Given the description of an element on the screen output the (x, y) to click on. 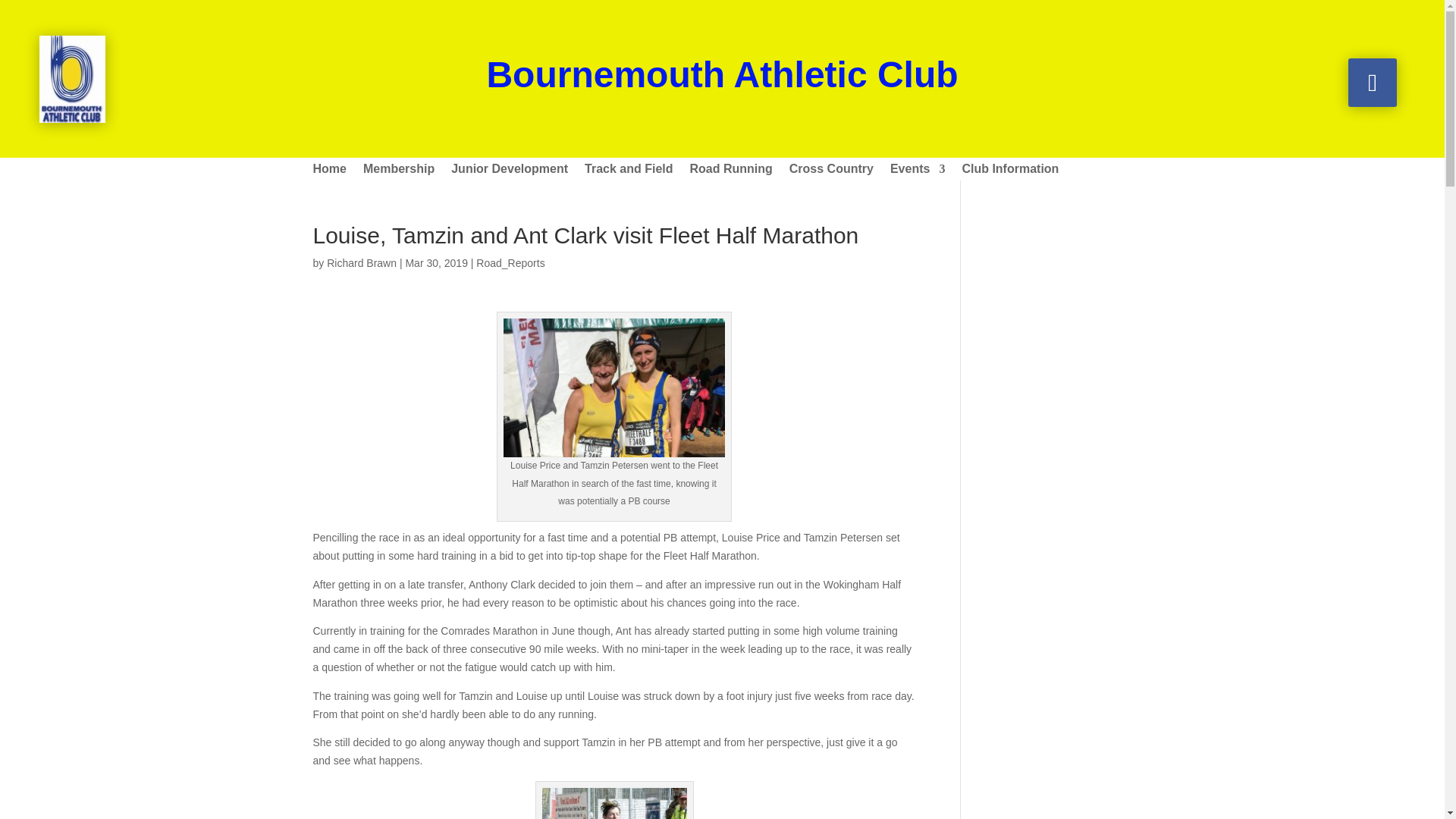
Cross Country (831, 171)
Track and Field (628, 171)
Junior Development (509, 171)
Events (916, 171)
Follow on Facebook (1372, 82)
Home (329, 171)
Membership (397, 171)
Road Running (731, 171)
Club Information (1009, 171)
Events (916, 171)
Road Running (731, 171)
Home (329, 171)
Track and Field (628, 171)
Membership (397, 171)
Junior Development (509, 171)
